Given the description of an element on the screen output the (x, y) to click on. 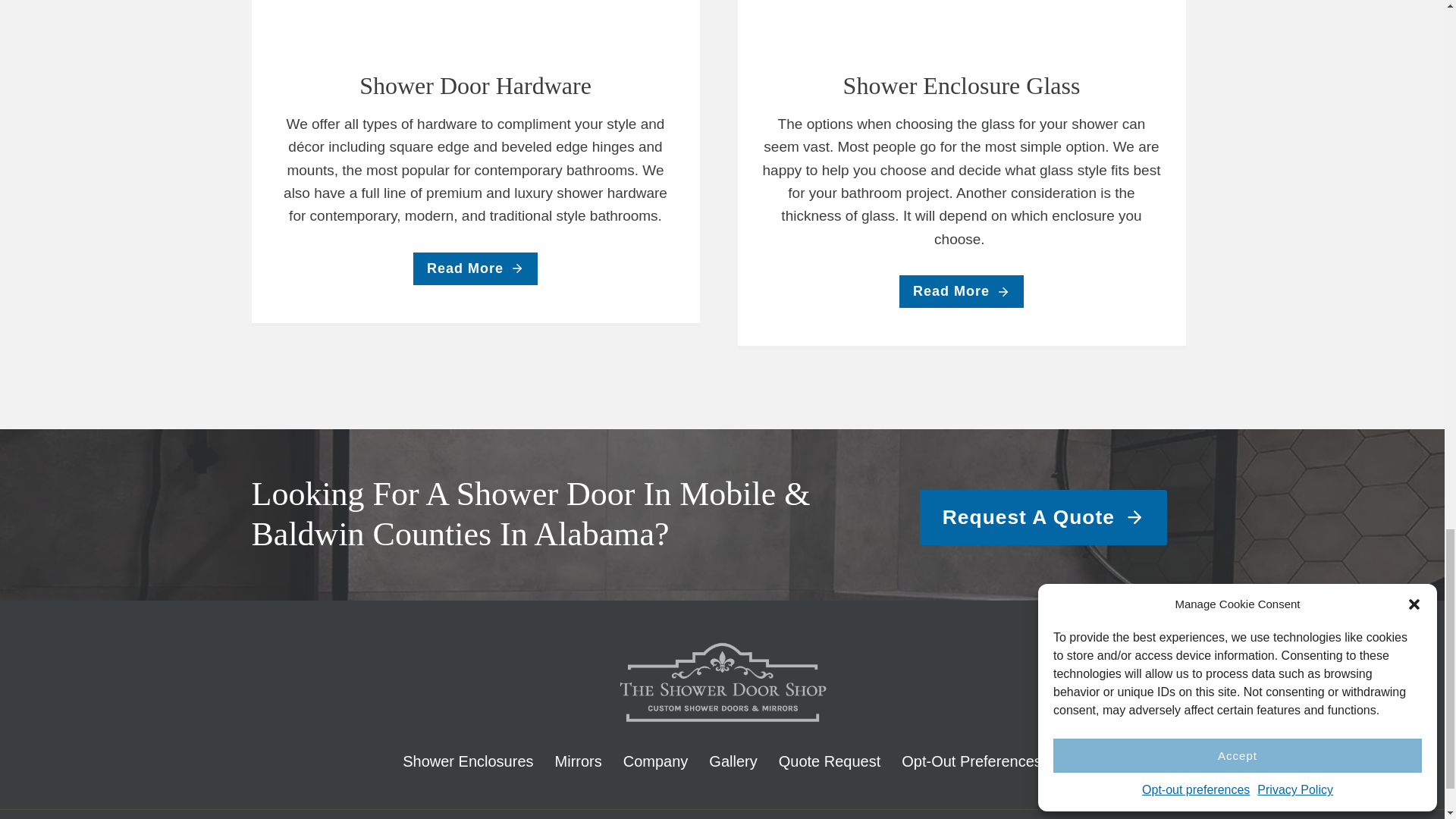
Request A Quote (1043, 516)
Read More (475, 268)
Mirrors (578, 761)
Read More (961, 291)
Shower Enclosures (467, 761)
